Given the description of an element on the screen output the (x, y) to click on. 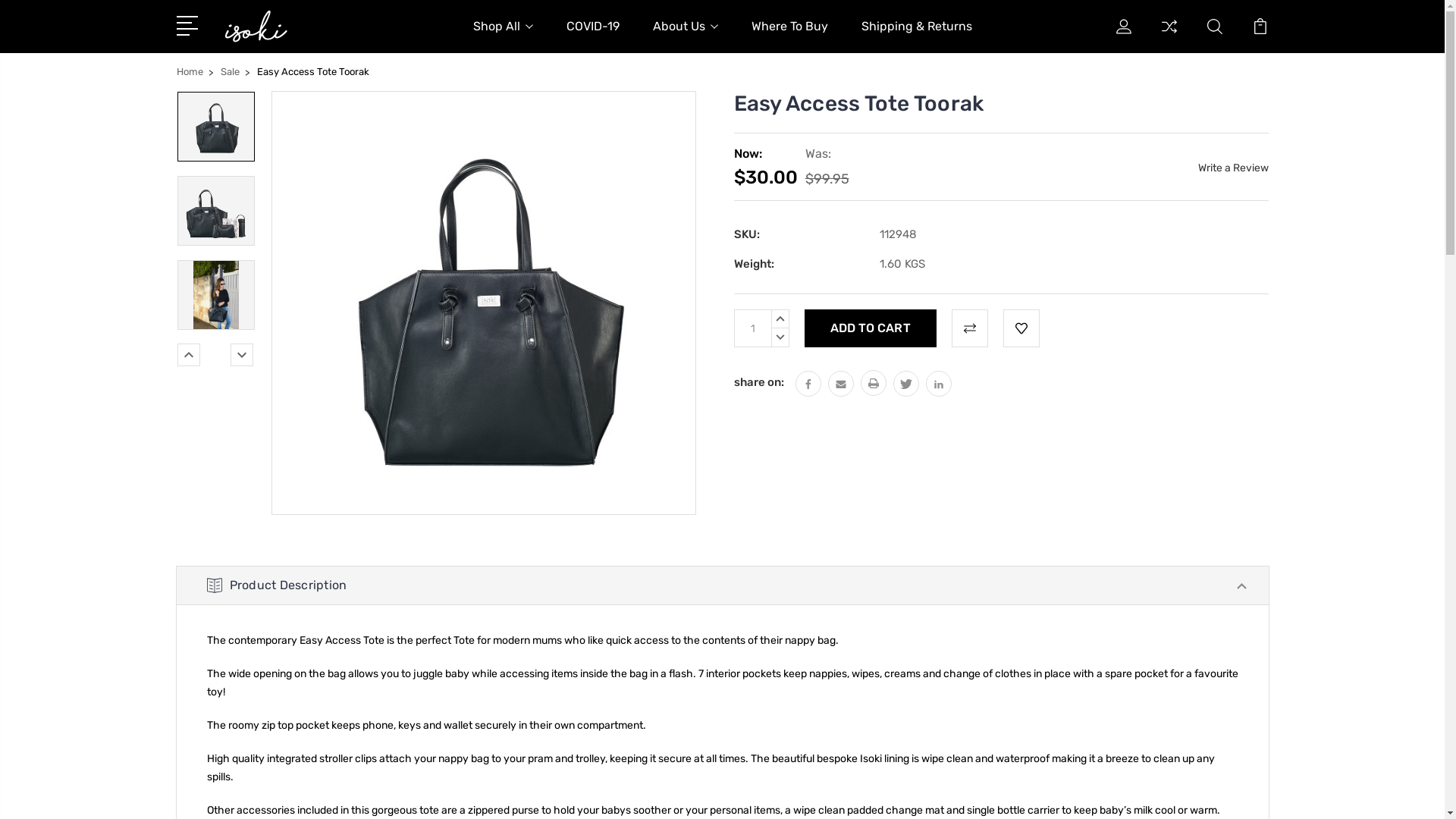
Shop All Element type: text (503, 35)
Product Description Element type: text (721, 585)
COVID-19 Element type: text (591, 35)
Write a Review Element type: text (1233, 167)
Add to Cart Element type: text (869, 328)
INCREASE QUANTITY: Element type: text (780, 318)
Sale Element type: text (228, 71)
DECREASE QUANTITY: Element type: text (780, 337)
Where To Buy Element type: text (788, 35)
About Us Element type: text (684, 35)
Isoki Australia Element type: hover (256, 26)
Compare Element type: hover (1168, 35)
Shipping & Returns Element type: text (916, 35)
Home Element type: text (188, 71)
